Given the description of an element on the screen output the (x, y) to click on. 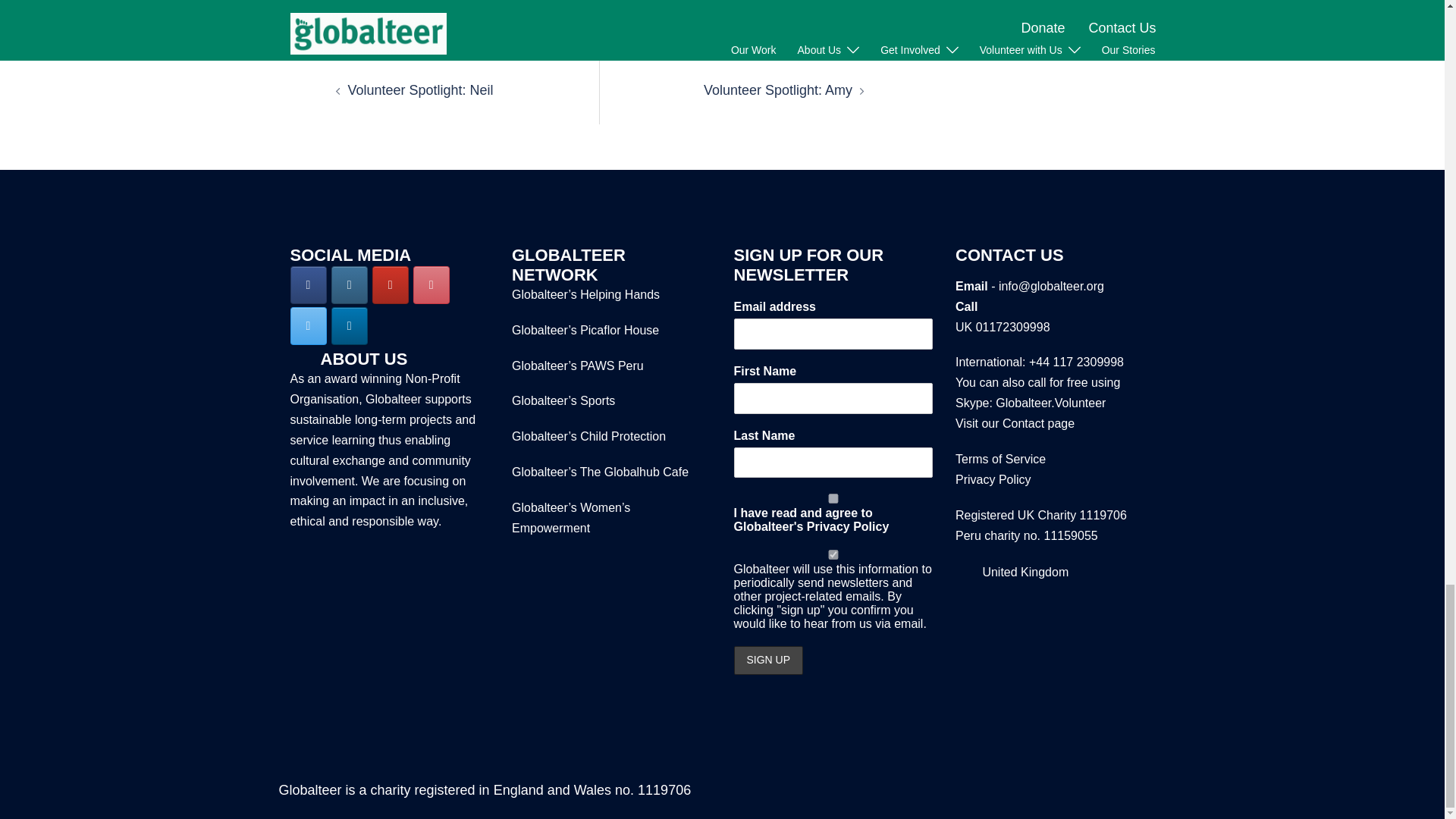
 on Linkedin (349, 325)
Sign Up (768, 660)
1 (833, 498)
 on Youtube (390, 284)
On Pinterest (431, 284)
On Twitter (307, 325)
subscribe (833, 554)
Follow us on Facebook (307, 284)
 on Instagram (349, 284)
